Given the description of an element on the screen output the (x, y) to click on. 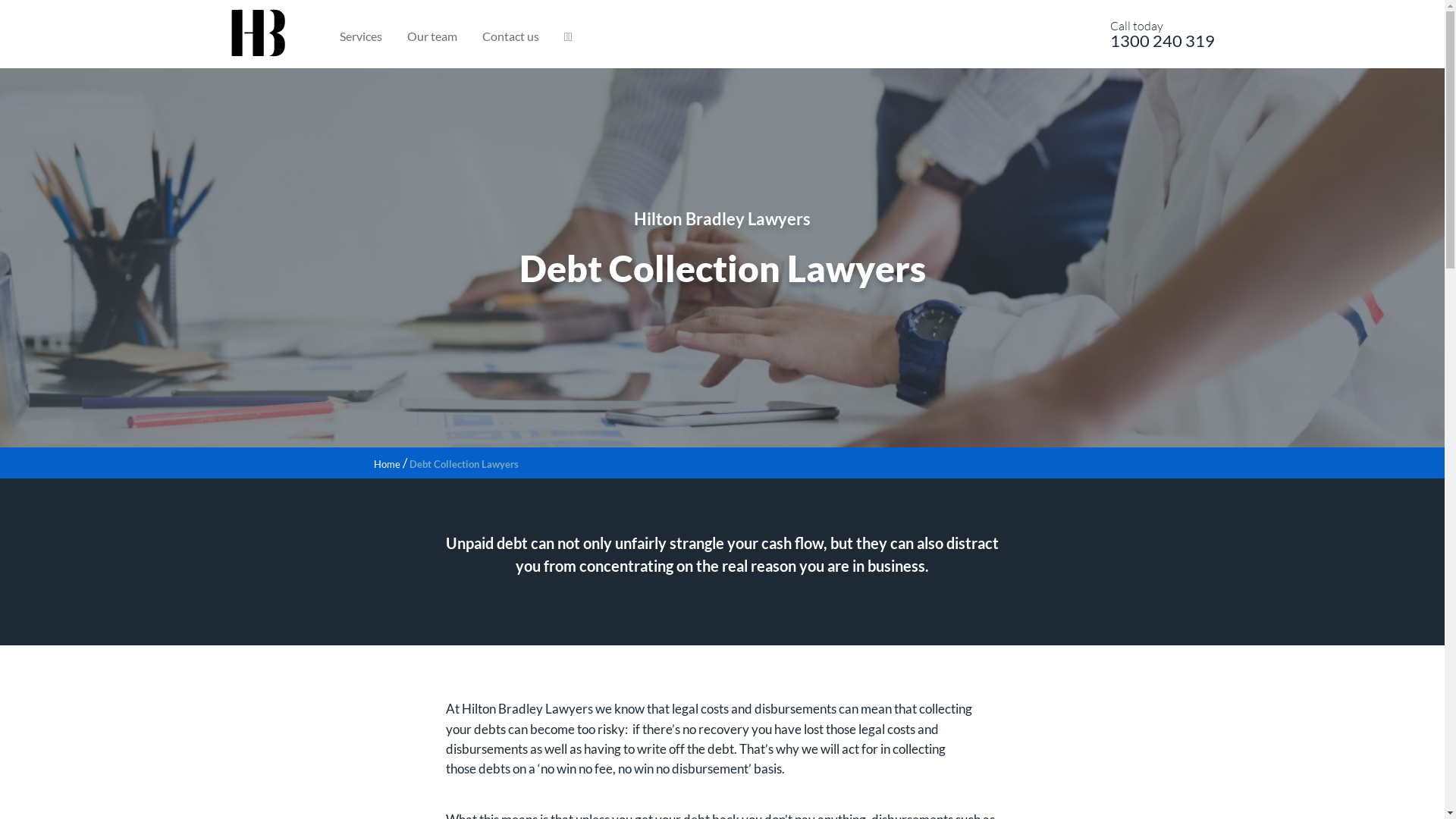
Our team Element type: text (431, 36)
Contact us Element type: text (510, 36)
Home Element type: text (386, 464)
Hilton Bradley Lawyers Element type: hover (257, 28)
Services Element type: text (360, 36)
